Given the description of an element on the screen output the (x, y) to click on. 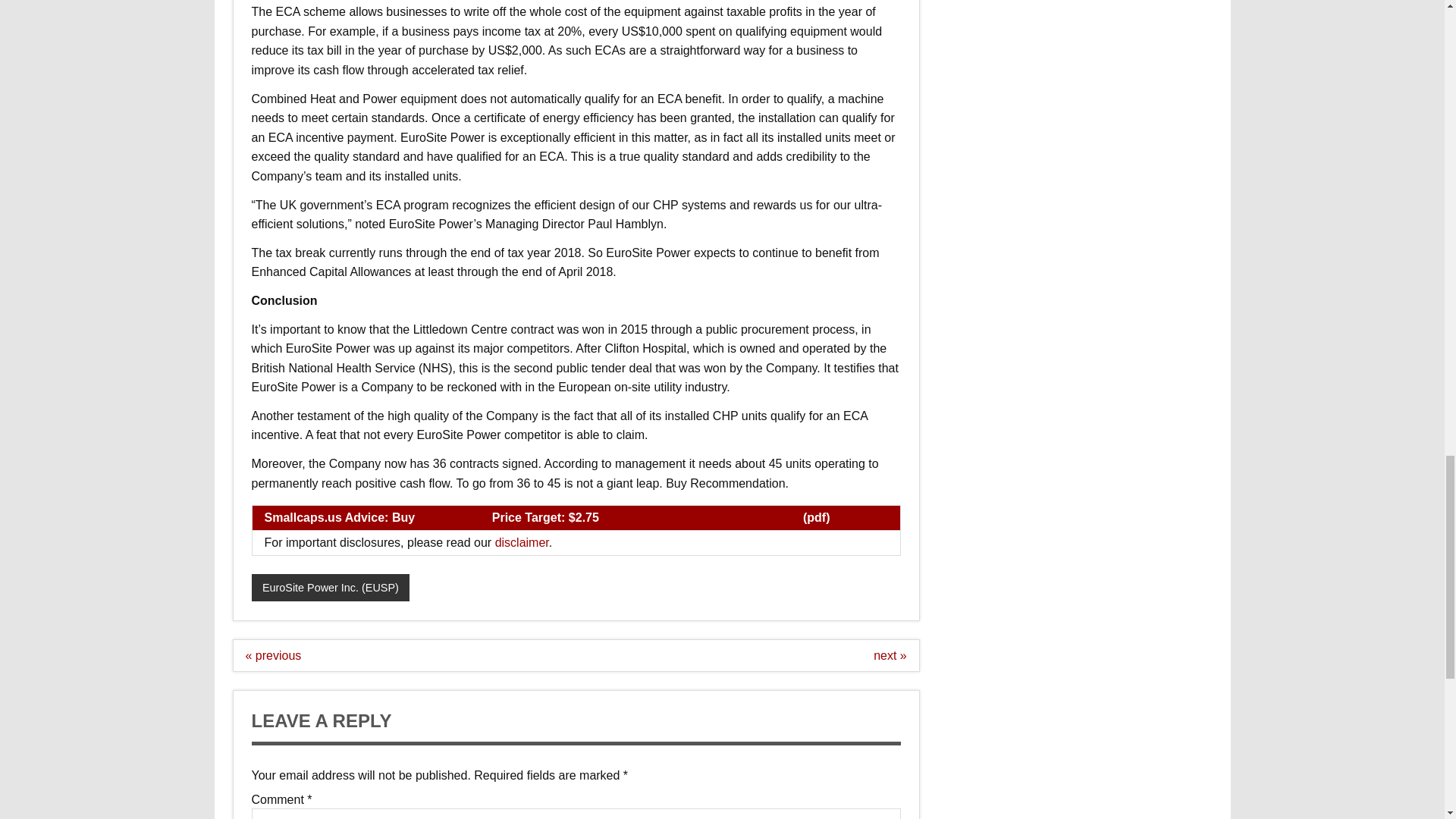
disclaimer (521, 542)
Latest Company Report (730, 517)
